Given the description of an element on the screen output the (x, y) to click on. 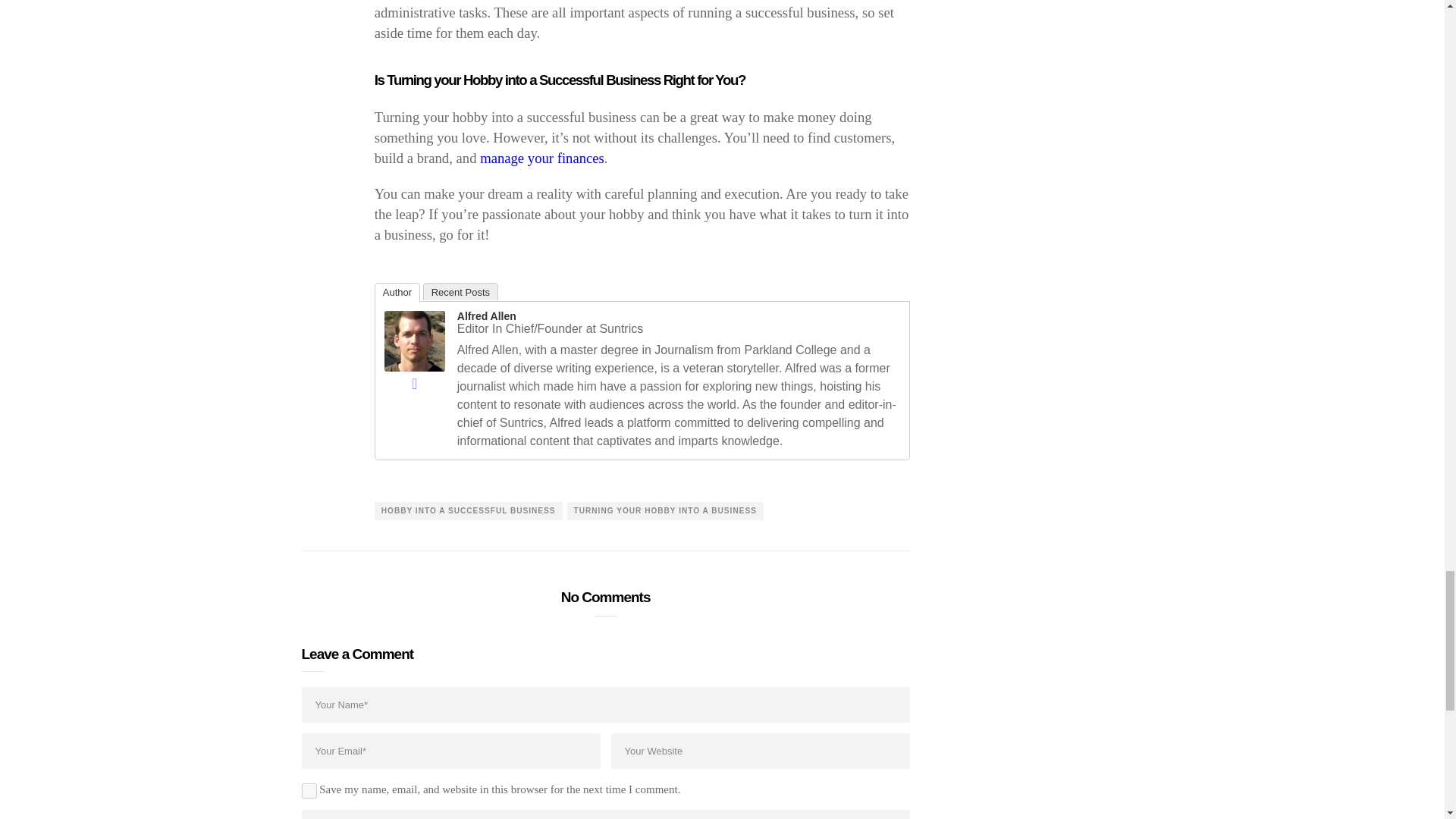
Alfred Allen (414, 339)
Facebook (414, 383)
yes (309, 790)
